Given the description of an element on the screen output the (x, y) to click on. 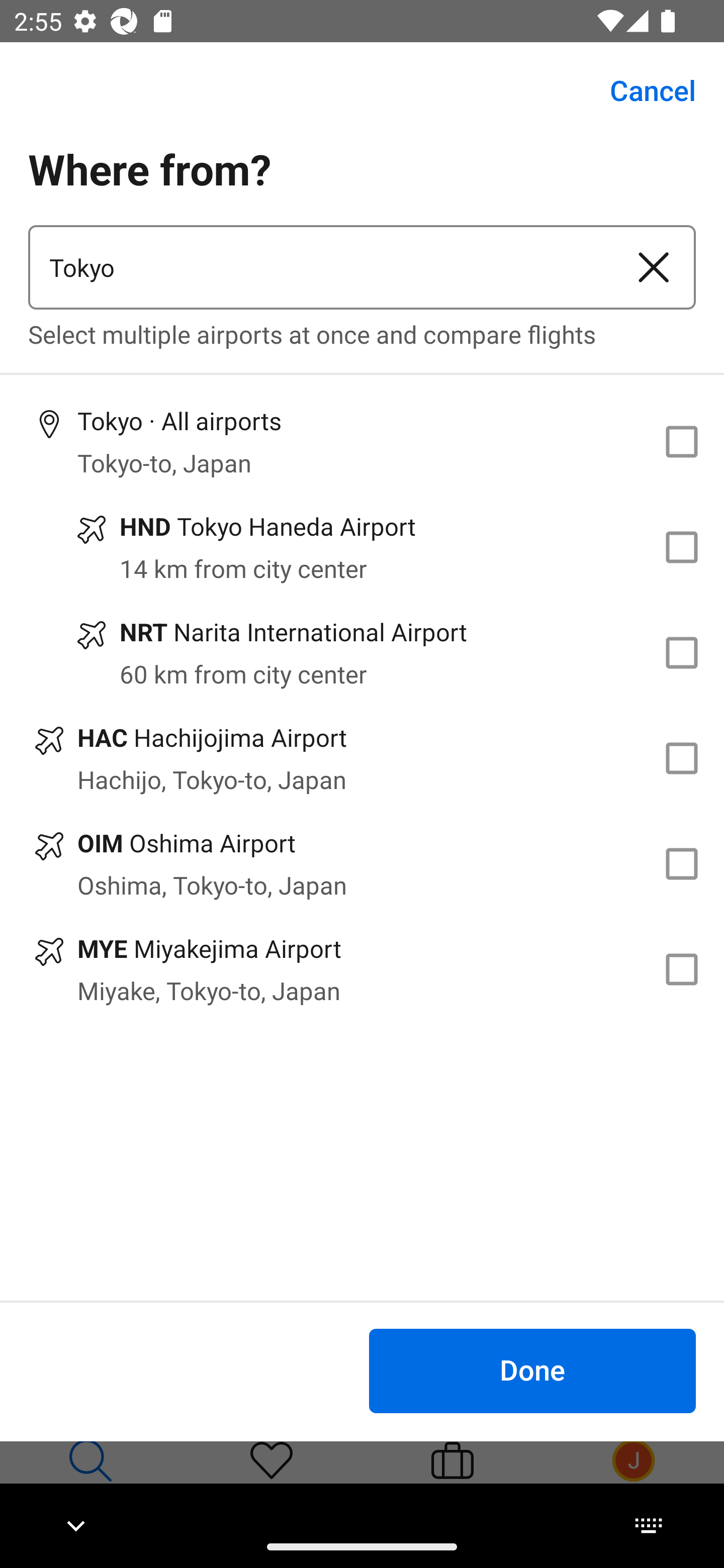
Cancel (641, 90)
Tokyo (319, 266)
Clear airport or city (653, 266)
Tokyo · All airports Tokyo-to, Japan (362, 440)
HND Tokyo Haneda Airport 14 km from city center (362, 547)
HAC Hachijojima Airport Hachijo, Tokyo-to, Japan (362, 757)
OIM Oshima Airport Oshima, Tokyo-to, Japan (362, 863)
MYE Miyakejima Airport Miyake, Tokyo-to, Japan (362, 969)
Done (532, 1370)
